Given the description of an element on the screen output the (x, y) to click on. 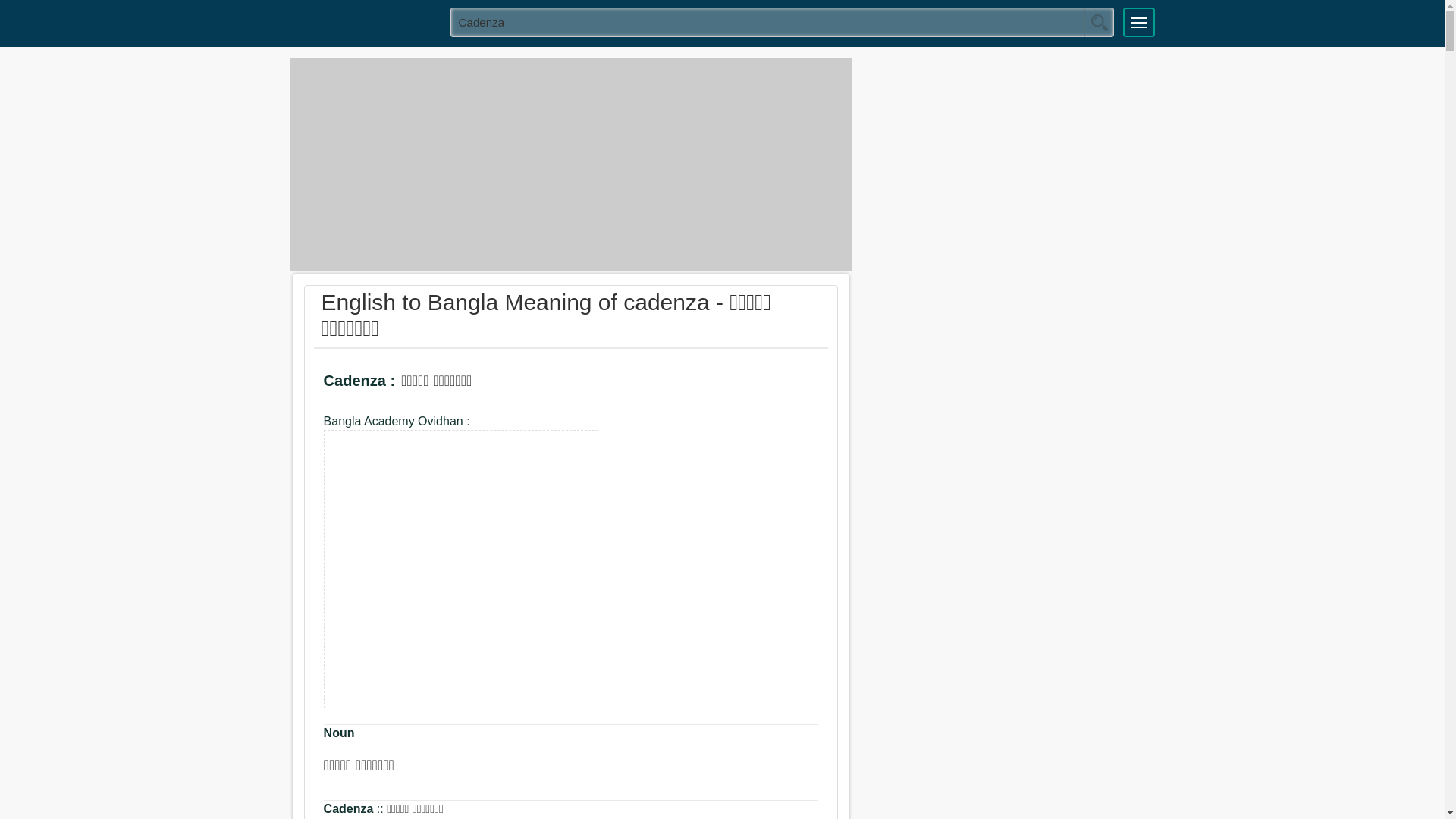
Advertisement (570, 164)
Say The Word (497, 383)
Add To Favorites (539, 383)
Search (1098, 22)
BDWORD (365, 20)
cadenza (460, 568)
cadenza (782, 21)
